Given the description of an element on the screen output the (x, y) to click on. 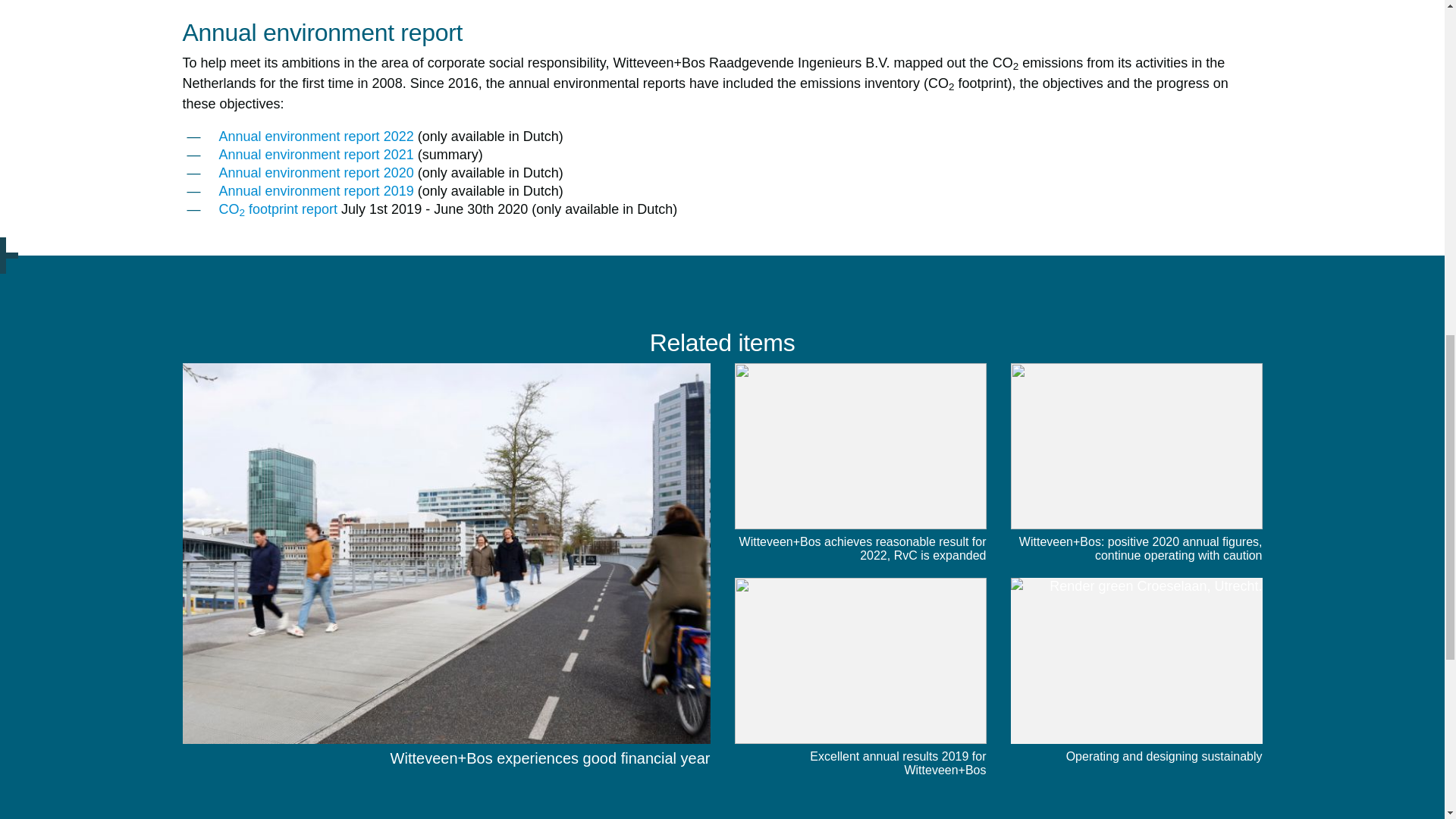
CO2 footprint report (277, 209)
Annual environment report 2022 (315, 136)
Annual environment report 2019 (315, 191)
Annual environment report 2020 (315, 172)
Annual environment report 2021 (315, 154)
